Given the description of an element on the screen output the (x, y) to click on. 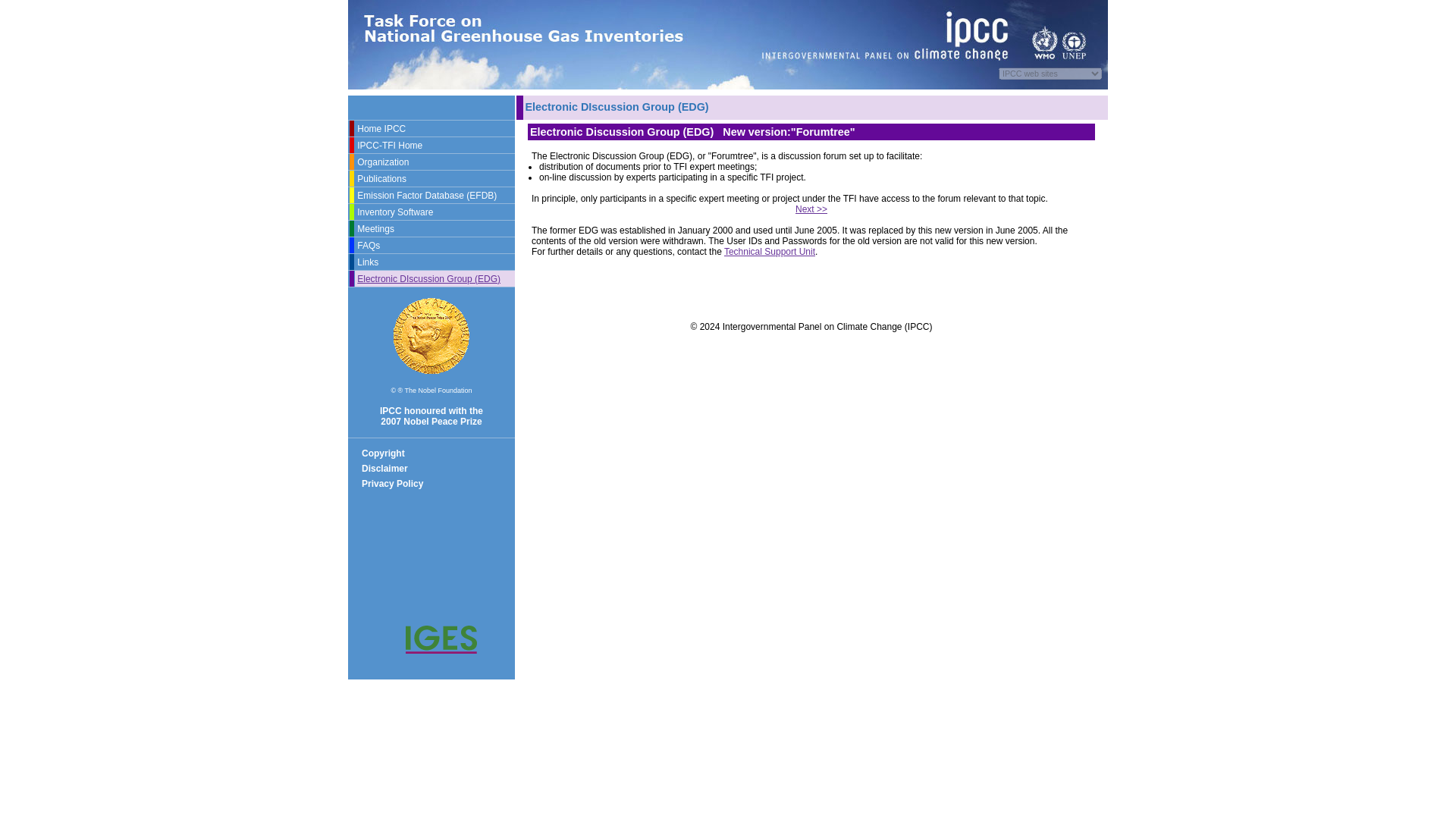
Technical Support Unit (769, 251)
Links (367, 261)
Home IPCC (381, 127)
Meetings (375, 227)
Publications (381, 177)
IPCC-TFI Home (389, 144)
Copyright (382, 452)
Disclaimer (384, 468)
Inventory Software (394, 211)
Organization (382, 161)
FAQs (368, 244)
Privacy Policy (392, 483)
